Given the description of an element on the screen output the (x, y) to click on. 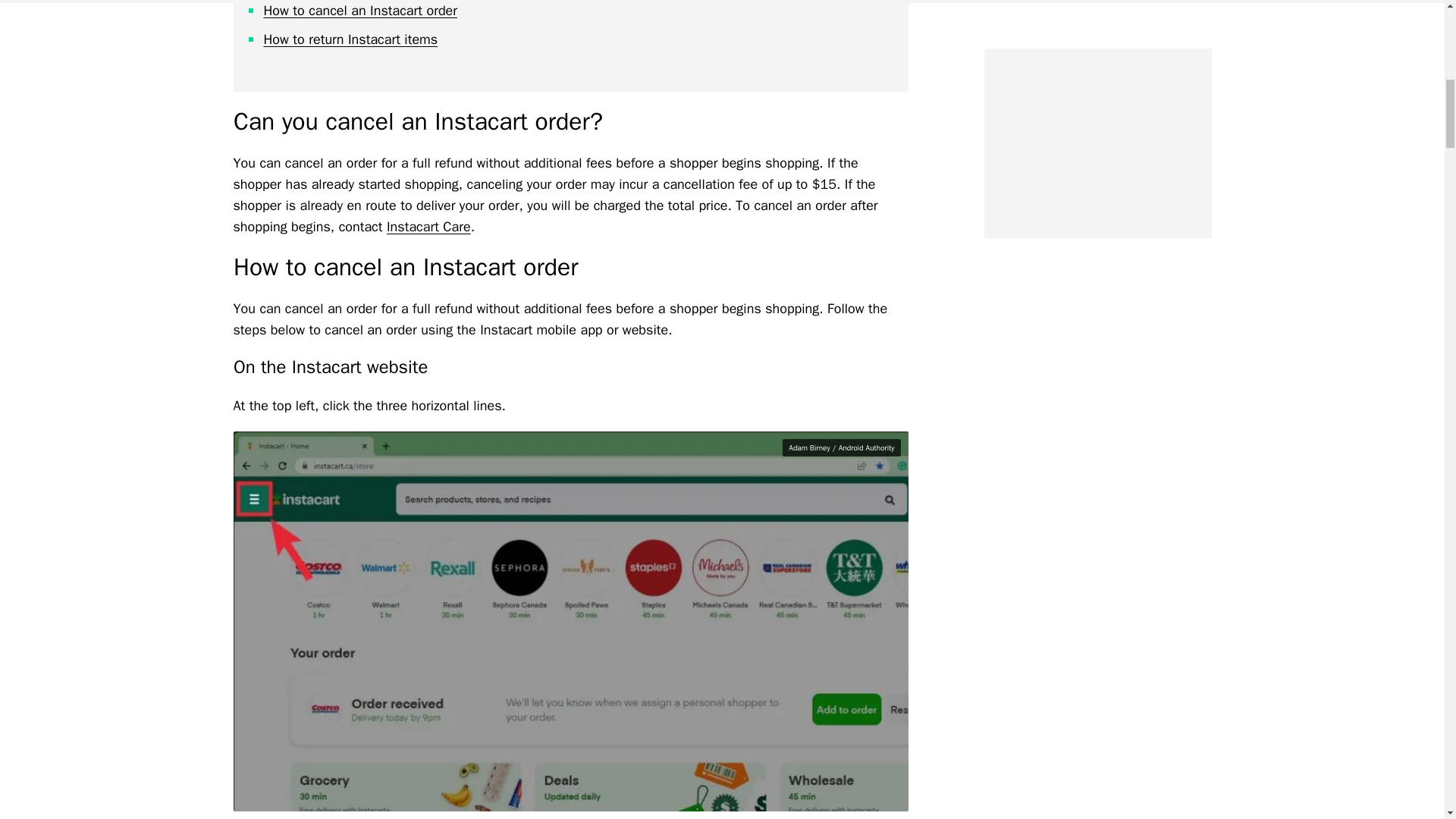
How to return Instacart items (350, 39)
How to cancel an Instacart order (360, 10)
Instacart Care (428, 226)
